Given the description of an element on the screen output the (x, y) to click on. 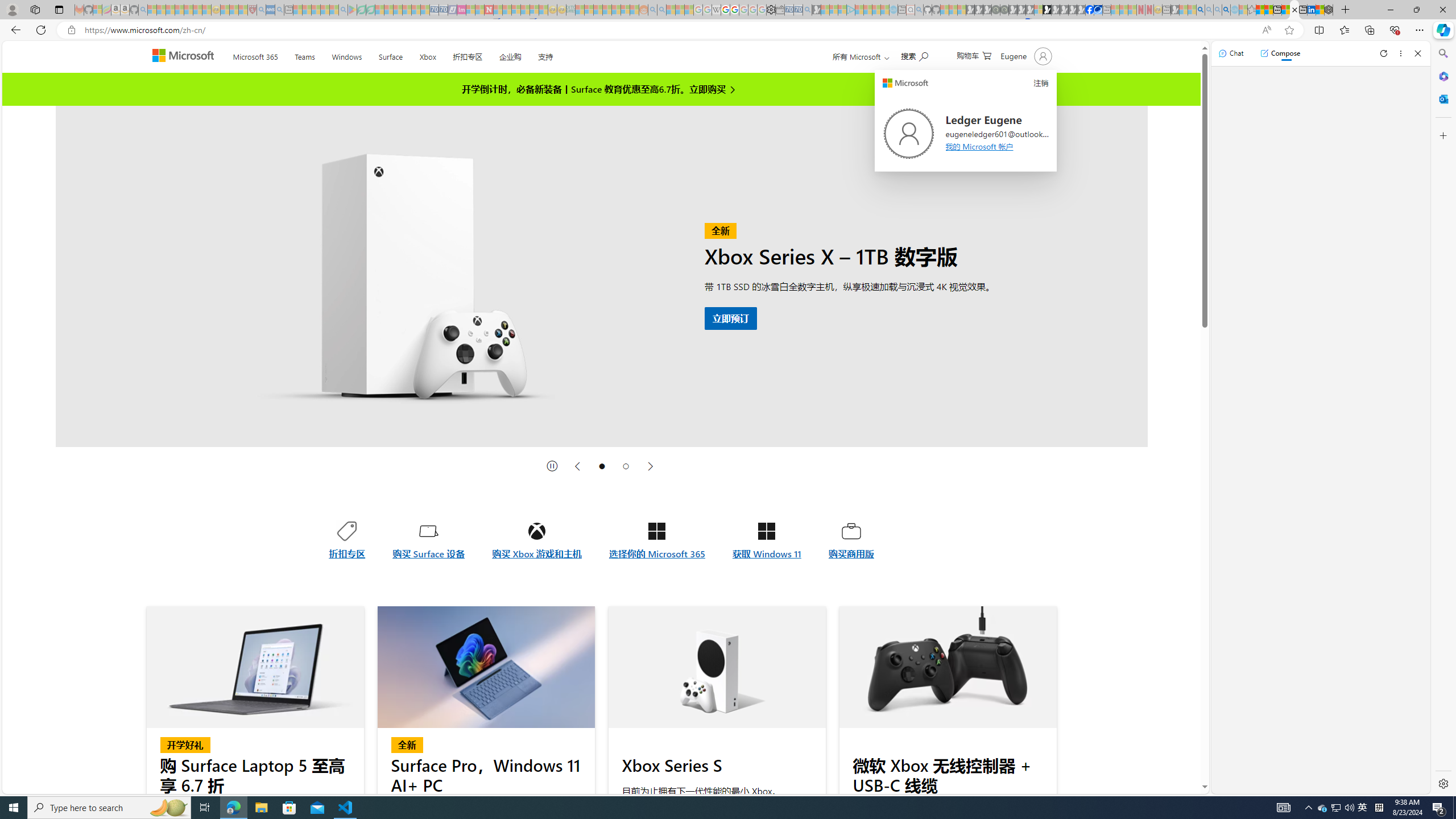
AQI & Health | AirNow.gov (1098, 9)
MSNBC - MSN - Sleeping (579, 9)
NCL Adult Asthma Inhaler Choice Guideline - Sleeping (269, 9)
MSN - Sleeping (1174, 9)
Wallet - Sleeping (779, 9)
Back (13, 29)
